Given the description of an element on the screen output the (x, y) to click on. 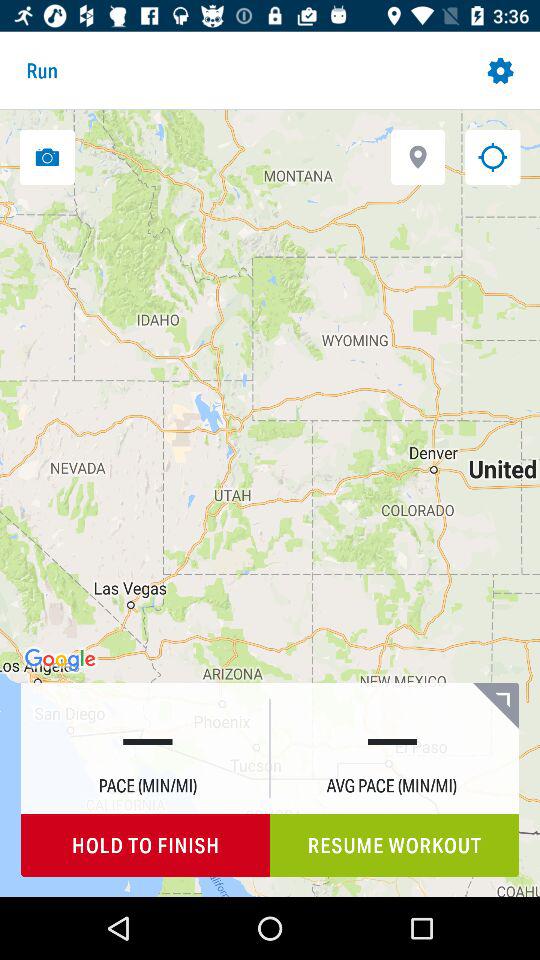
press hold to finish icon (145, 845)
